Given the description of an element on the screen output the (x, y) to click on. 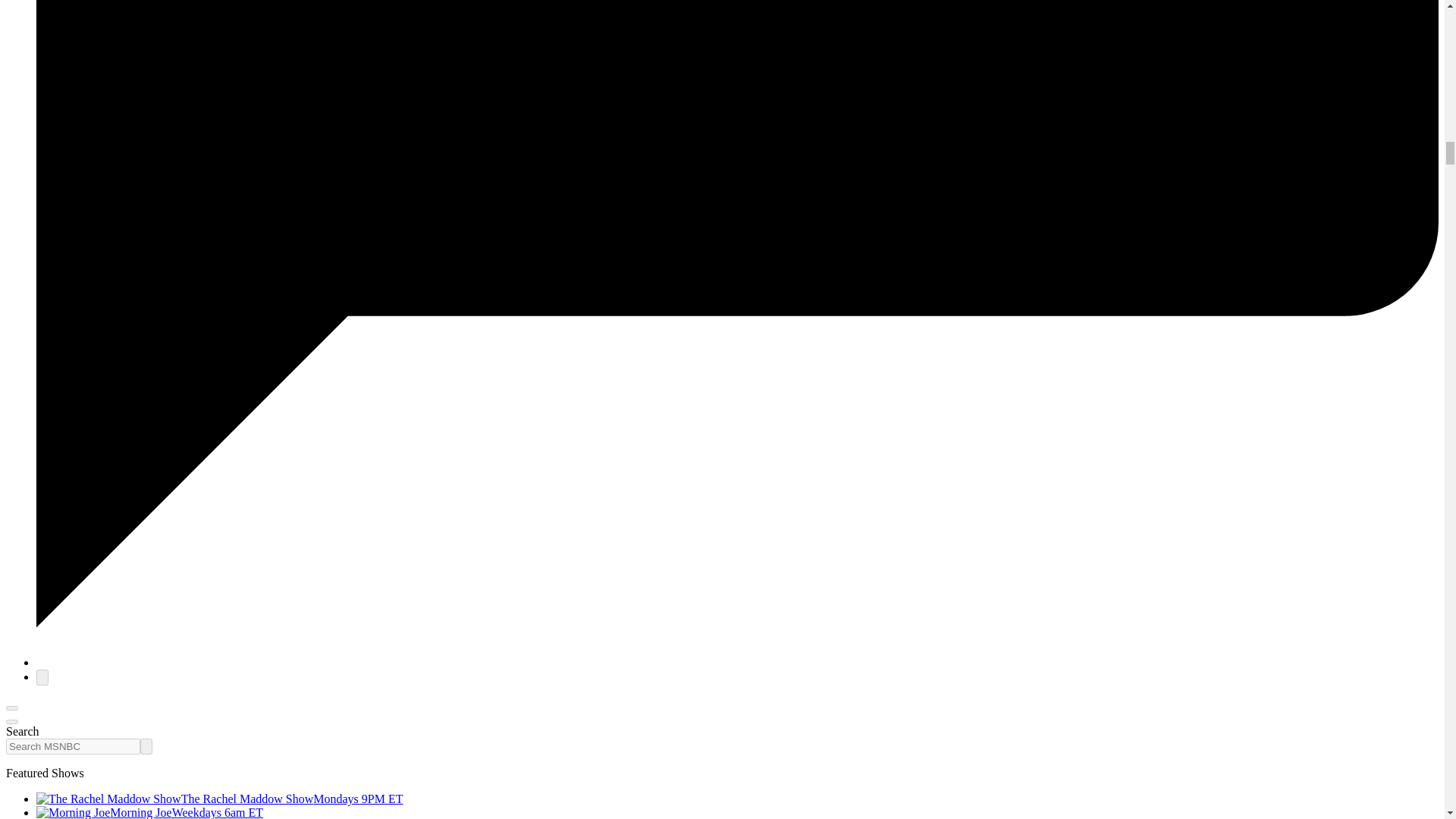
Morning JoeWeekdays 6am ET (149, 812)
Search (145, 746)
The Rachel Maddow ShowMondays 9PM ET (219, 798)
